Given the description of an element on the screen output the (x, y) to click on. 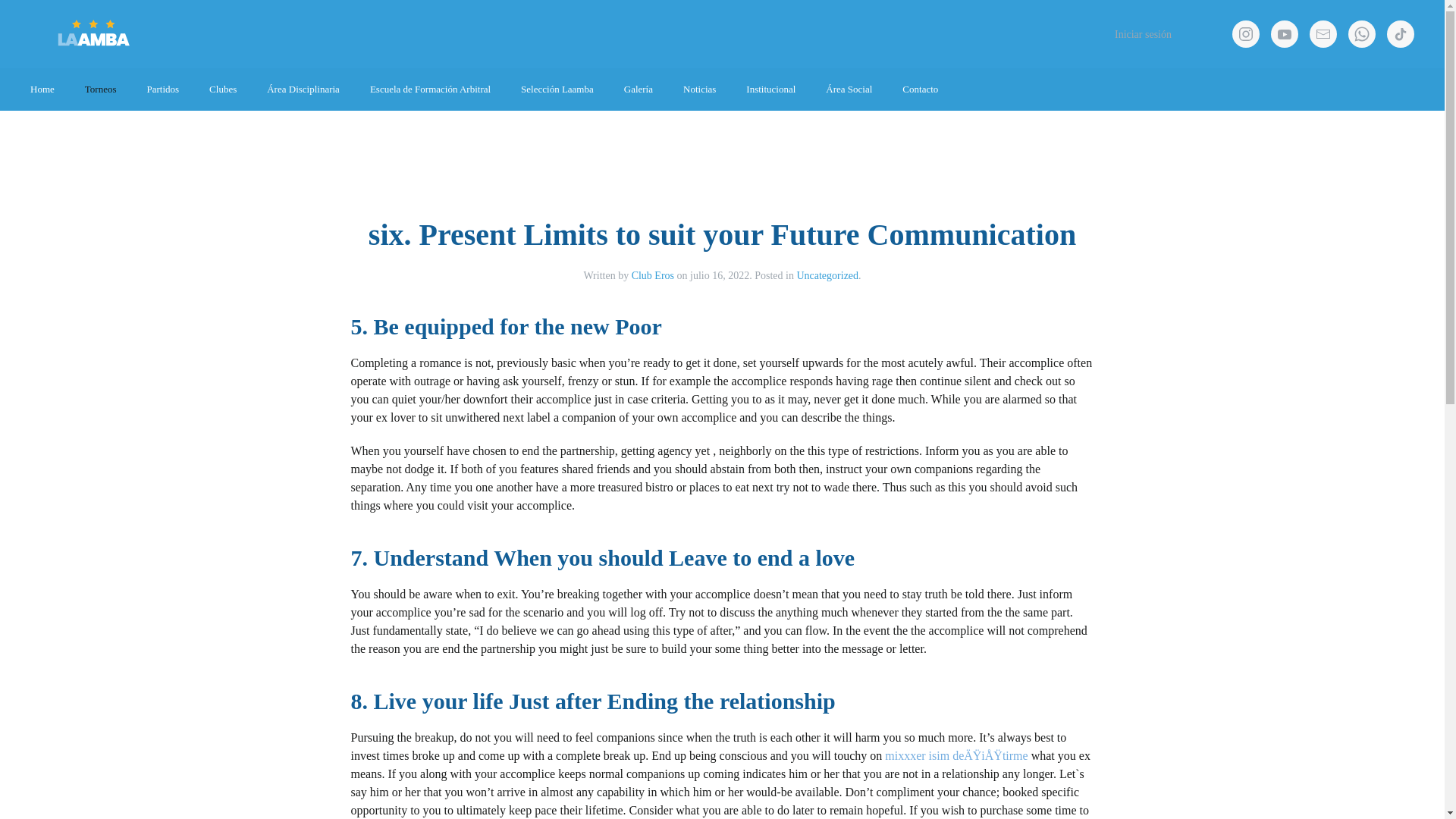
Home (41, 89)
Torneos (100, 89)
